Given the description of an element on the screen output the (x, y) to click on. 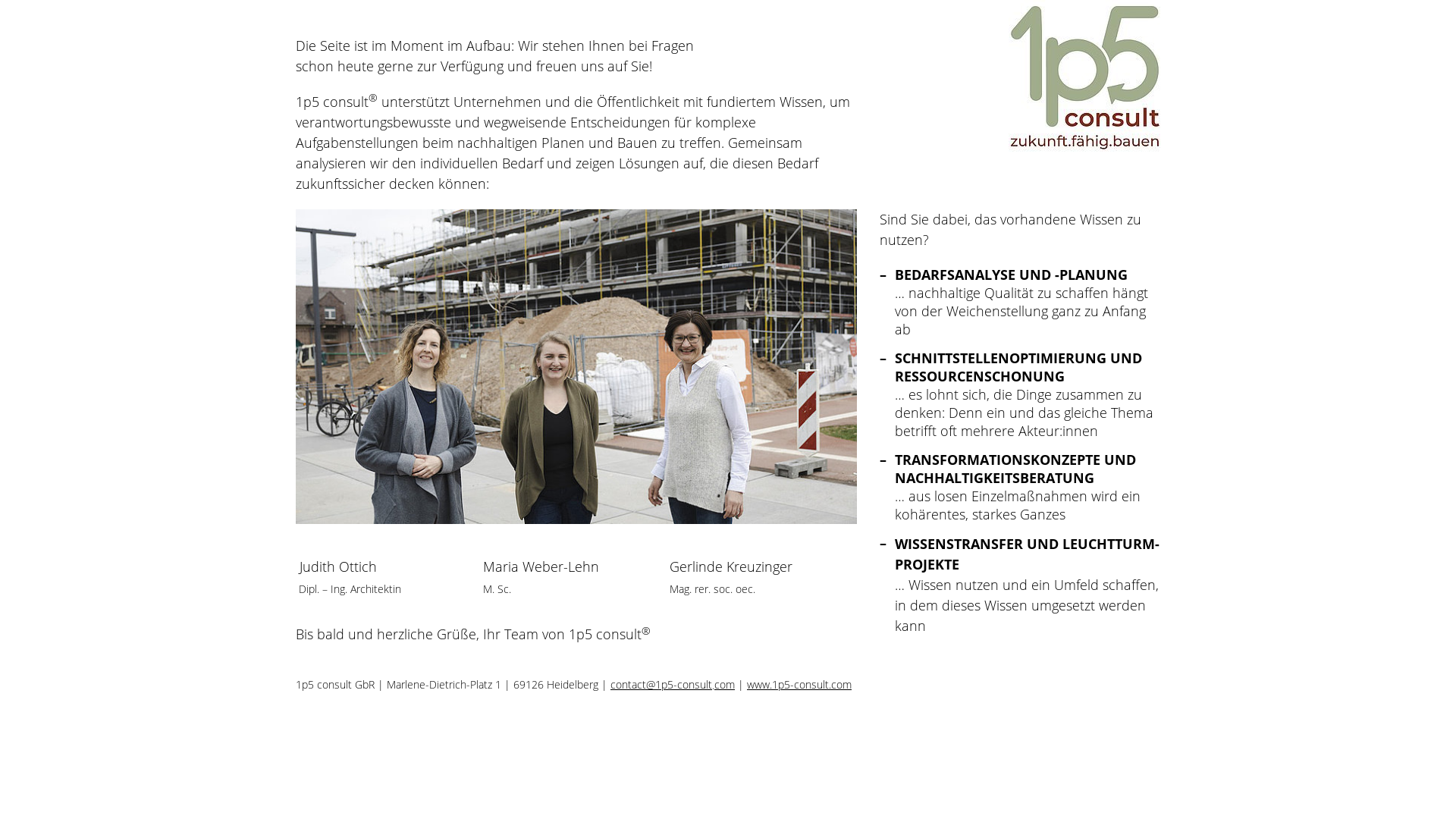
www.1p5-consult.com Element type: text (798, 684)
